Given the description of an element on the screen output the (x, y) to click on. 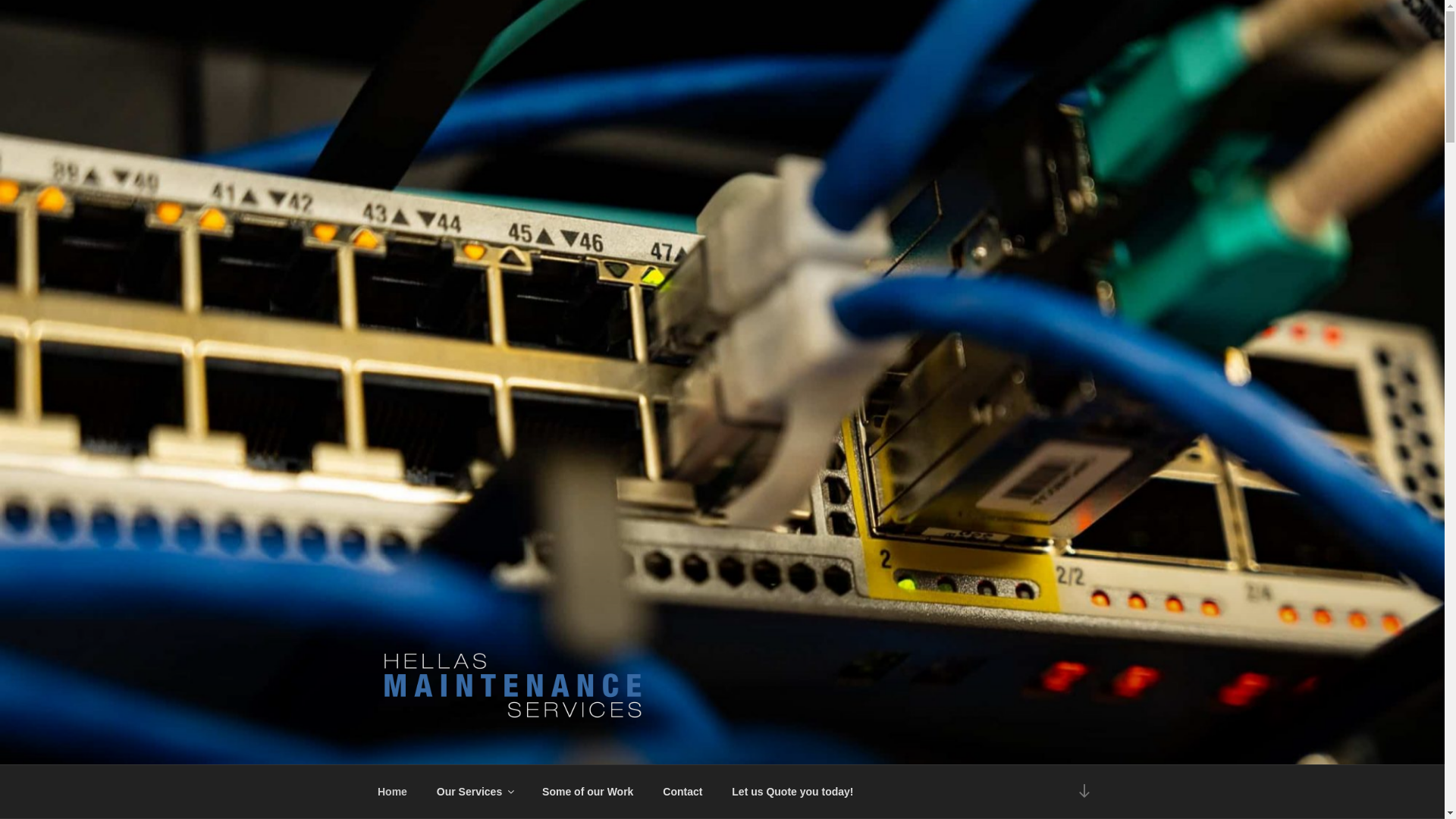
Some of our Work Element type: text (587, 791)
Our Services Element type: text (474, 791)
Scroll down to content Element type: text (1083, 790)
Contact Element type: text (682, 791)
HELLAS MAINTENANCE SERVICES Element type: text (640, 744)
Let us Quote you today! Element type: text (792, 791)
Home Element type: text (392, 791)
